Given the description of an element on the screen output the (x, y) to click on. 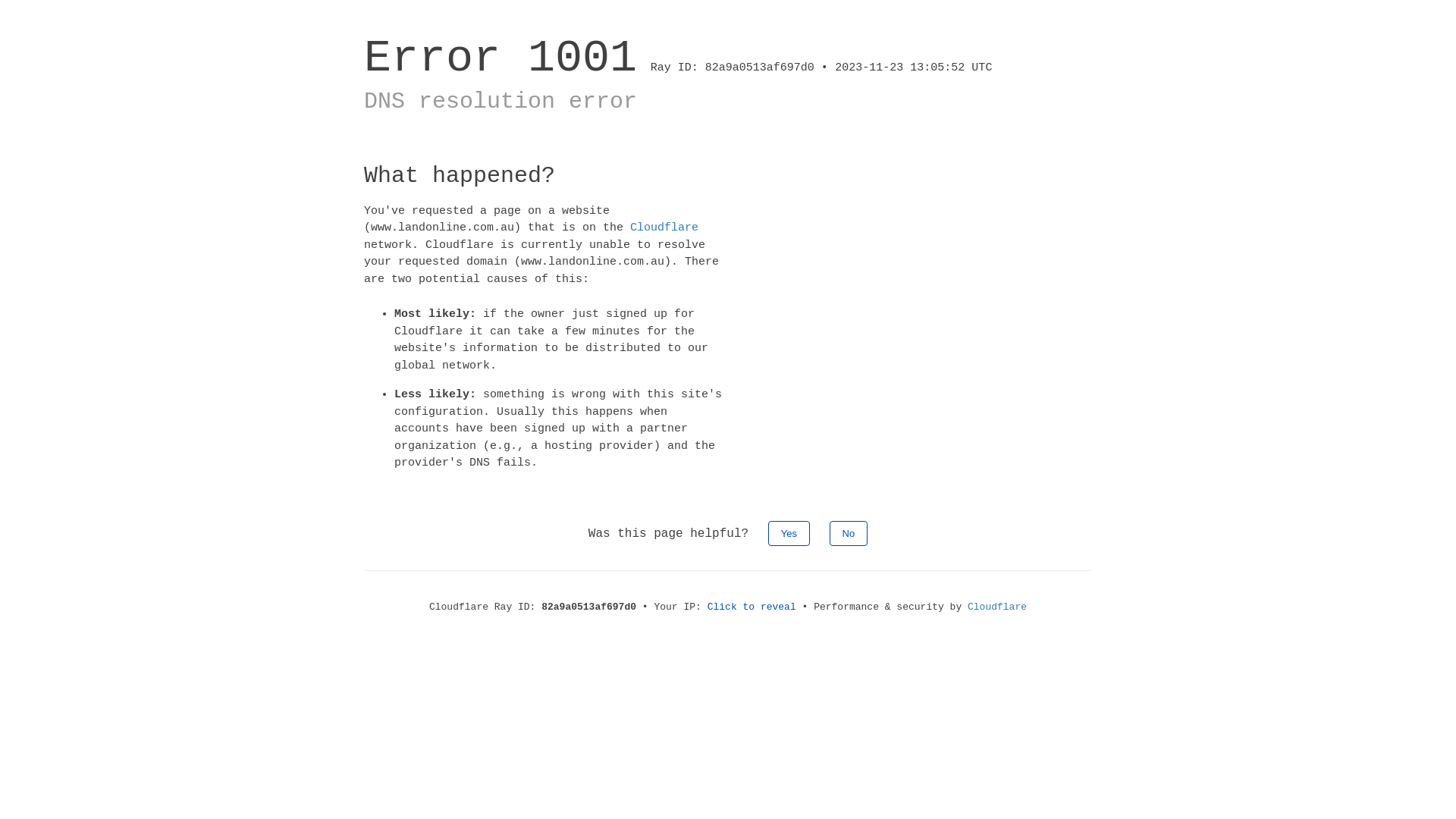
Yes Element type: text (788, 532)
Cloudflare Element type: text (996, 605)
Click to reveal Element type: text (751, 605)
Cloudflare Element type: text (664, 227)
No Element type: text (848, 532)
